Given the description of an element on the screen output the (x, y) to click on. 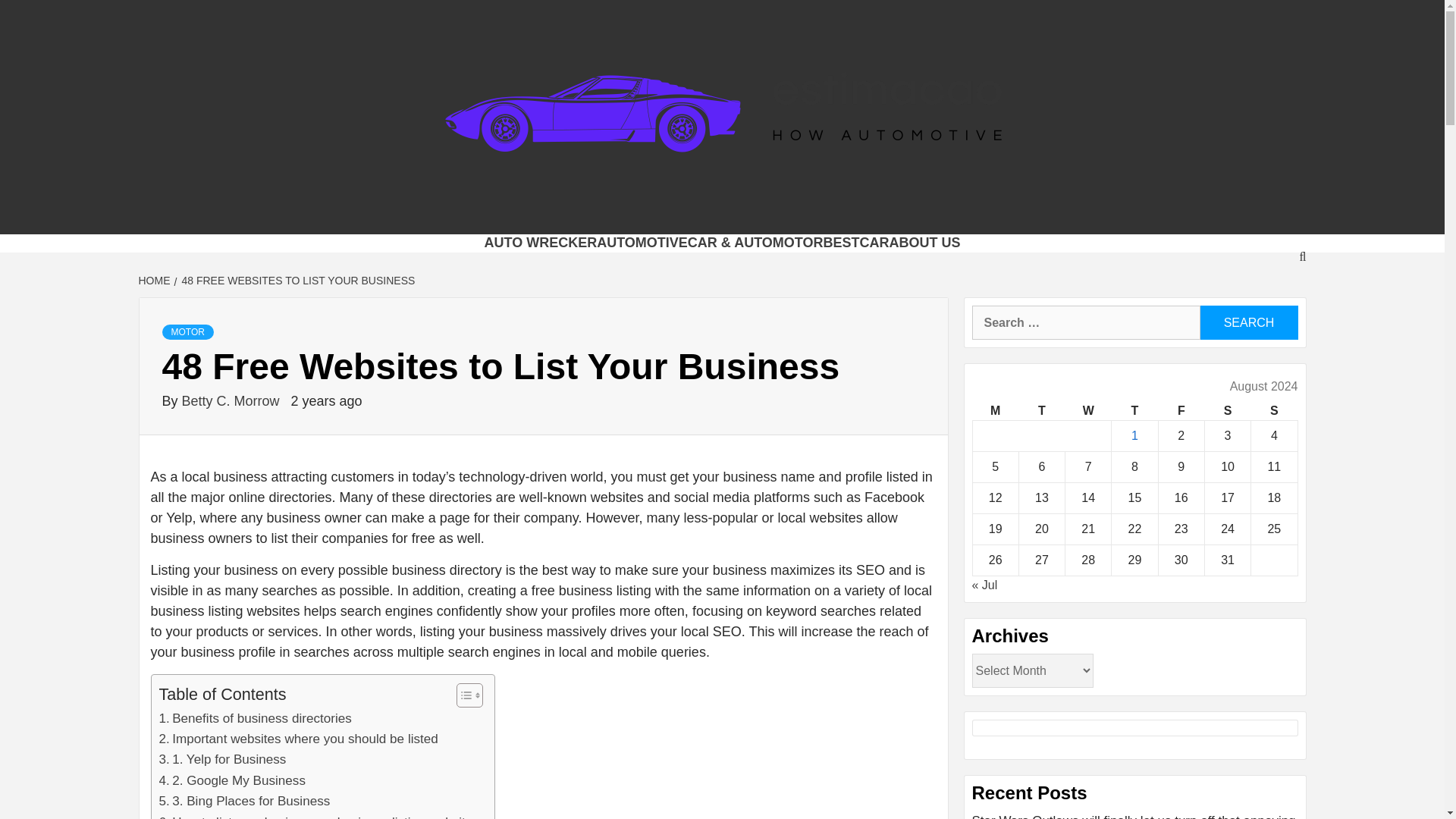
Benefits of business directories (255, 718)
Search (1248, 322)
Search (1248, 322)
Betty C. Morrow (232, 400)
How to list your business on business listing websites (318, 815)
Important websites where you should be listed (298, 738)
Friday (1180, 411)
2. Google My Business (231, 780)
AUTOMOTIVE (641, 242)
MOTOR (187, 331)
Thursday (1134, 411)
3. Bing Places for Business (244, 801)
ABOUT US (924, 242)
1. Yelp for Business (222, 759)
AUTO WRECKER (539, 242)
